Given the description of an element on the screen output the (x, y) to click on. 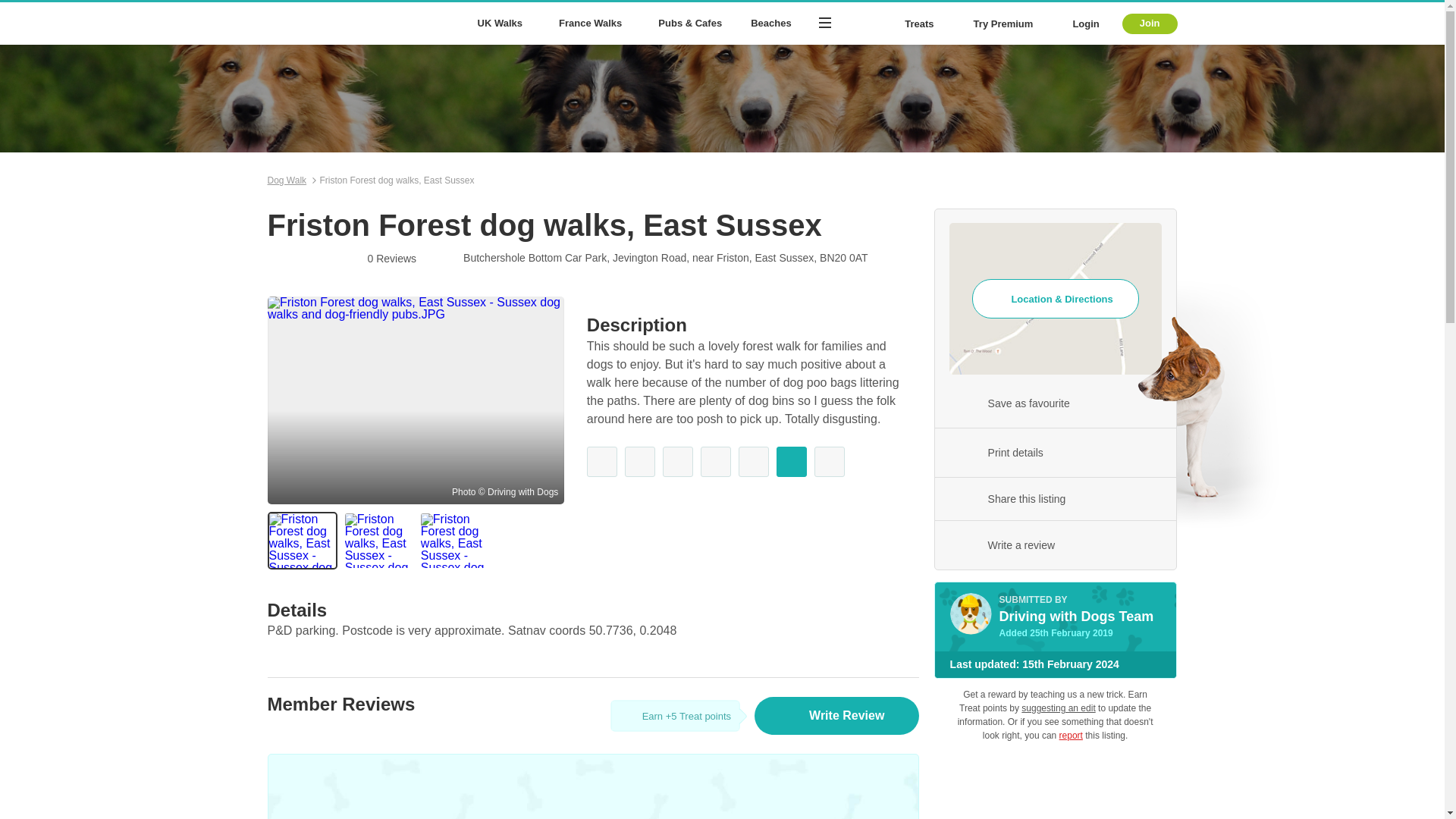
No Height Restriction (791, 461)
Beaches (770, 23)
Children's Activities Not Available (753, 461)
France Walks (593, 23)
UK Walks (502, 23)
WC Not Available (677, 461)
Free Parking Not Available (715, 461)
Sleep Not Available (828, 461)
Disabled Access Not Available (601, 461)
Refreshments Not Available (639, 461)
